Given the description of an element on the screen output the (x, y) to click on. 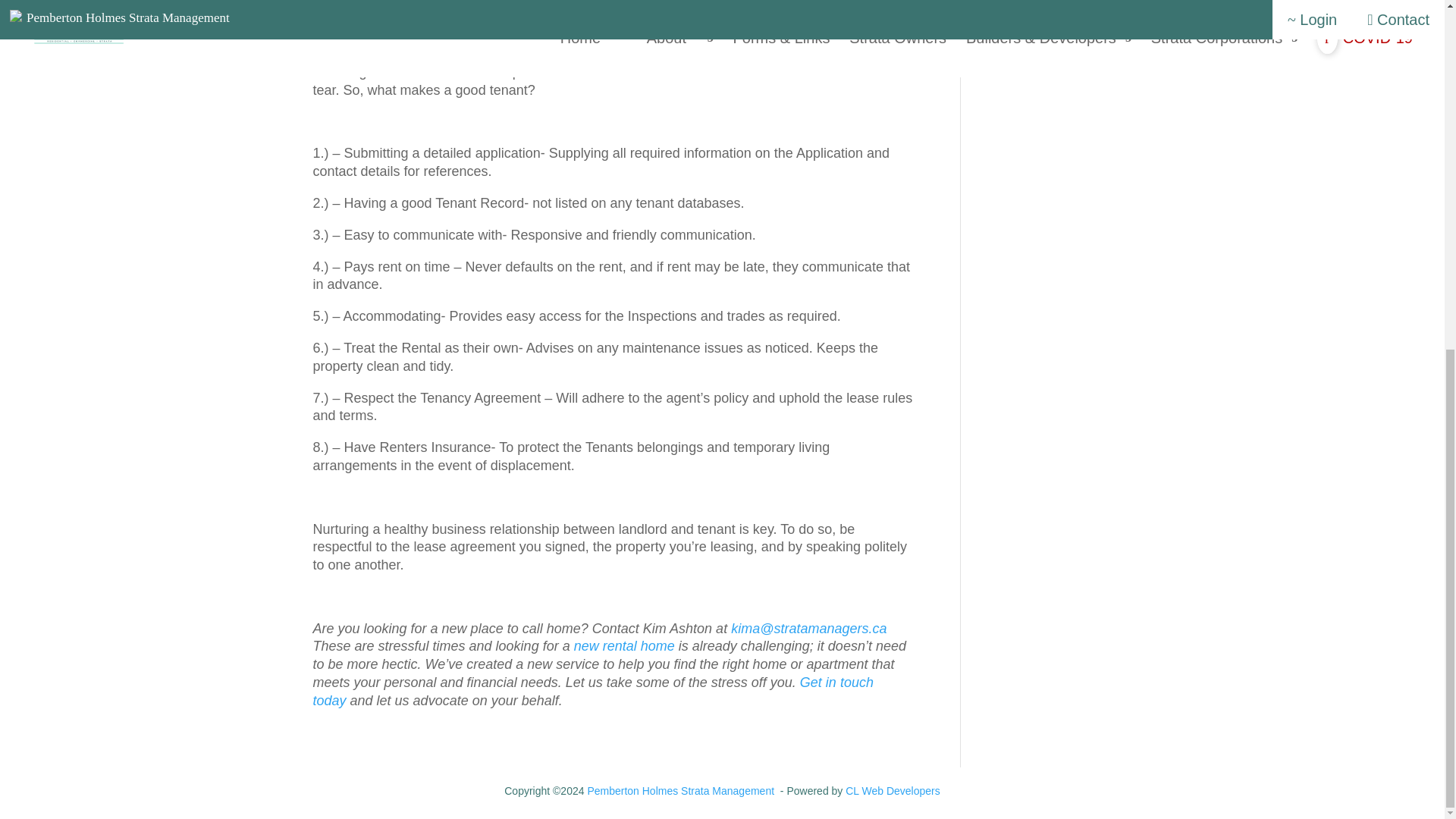
new rental home (624, 645)
Get in touch today (592, 691)
CL Web Developers (892, 790)
Pemberton Holmes Strata Management (680, 790)
